Given the description of an element on the screen output the (x, y) to click on. 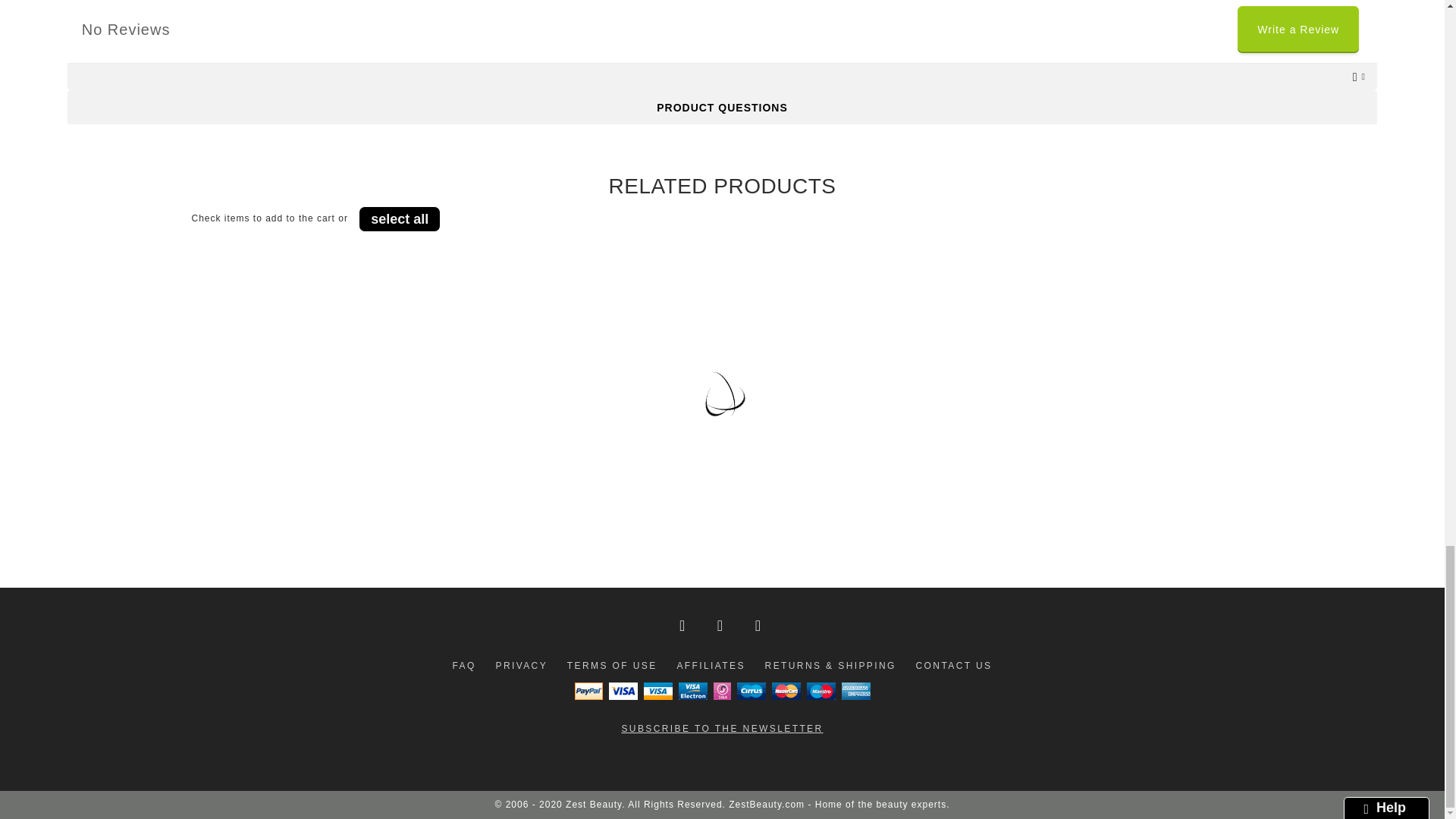
ORLY Tough Cookie 18ml (929, 455)
5998 (903, 512)
5999 (701, 512)
5997 (1115, 512)
6001 (489, 512)
ORLY Cutique Cuticle Remover 9ml (302, 455)
6003 (277, 512)
ORLY Won't Chip Top Coat 9ml (515, 455)
ORLY Tough Cookie 9ml (727, 455)
ORLY Nailtrition 9ml (1142, 455)
